Given the description of an element on the screen output the (x, y) to click on. 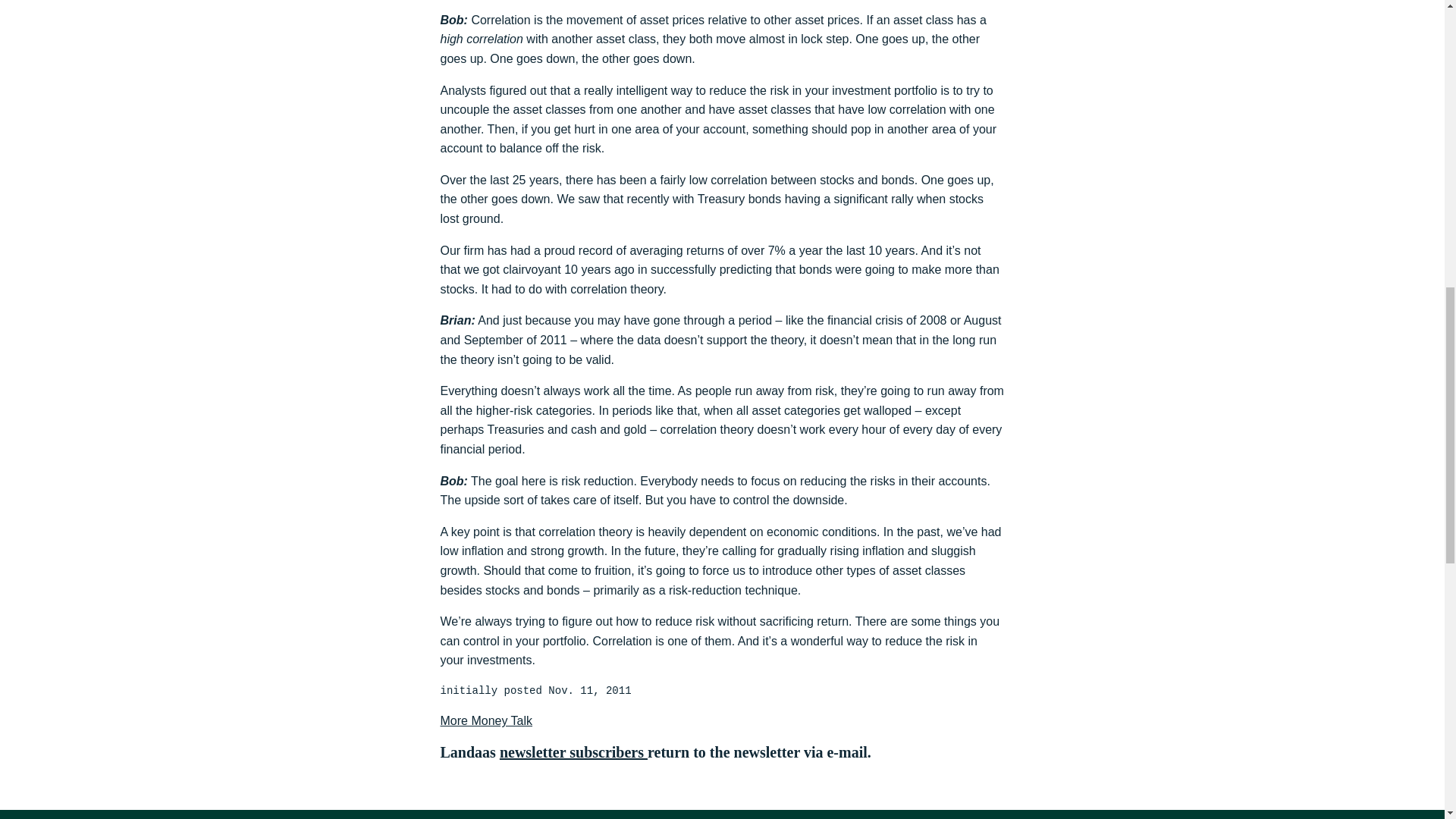
newsletter subscribers (573, 751)
More Money Talk (485, 720)
